Given the description of an element on the screen output the (x, y) to click on. 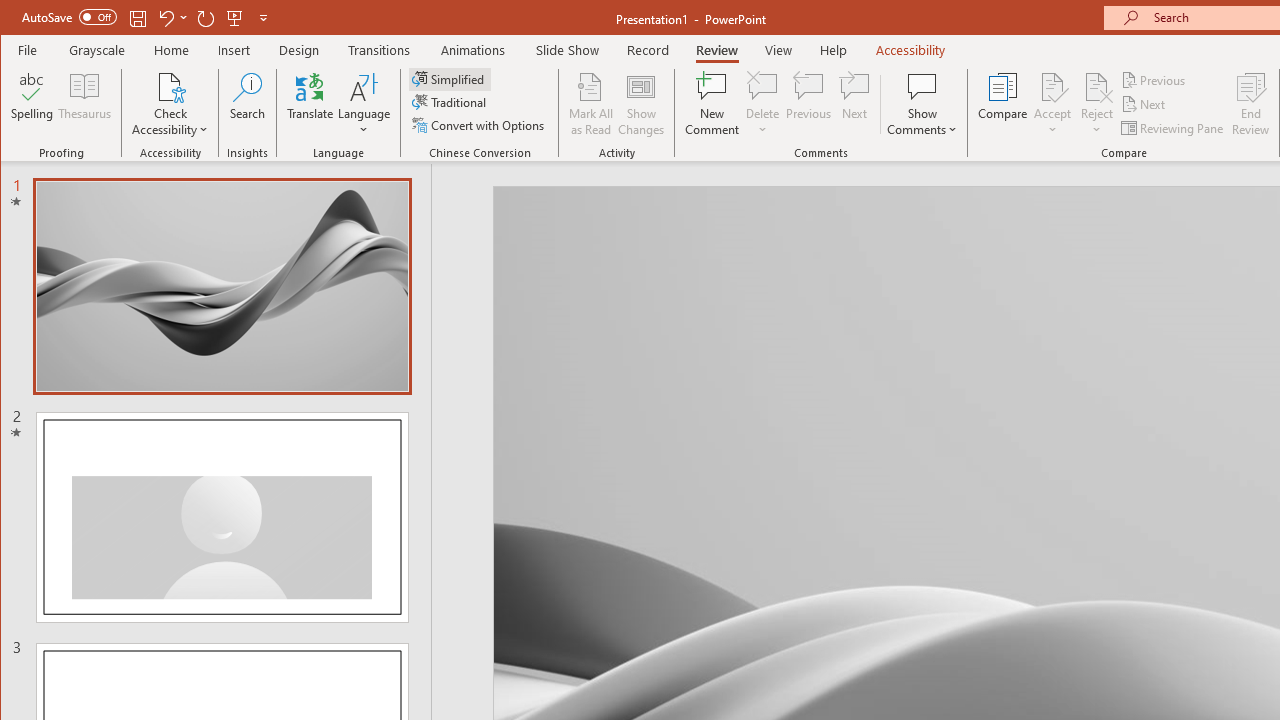
Translate (310, 104)
Show Changes (640, 104)
Next (1144, 103)
Traditional (450, 101)
